Given the description of an element on the screen output the (x, y) to click on. 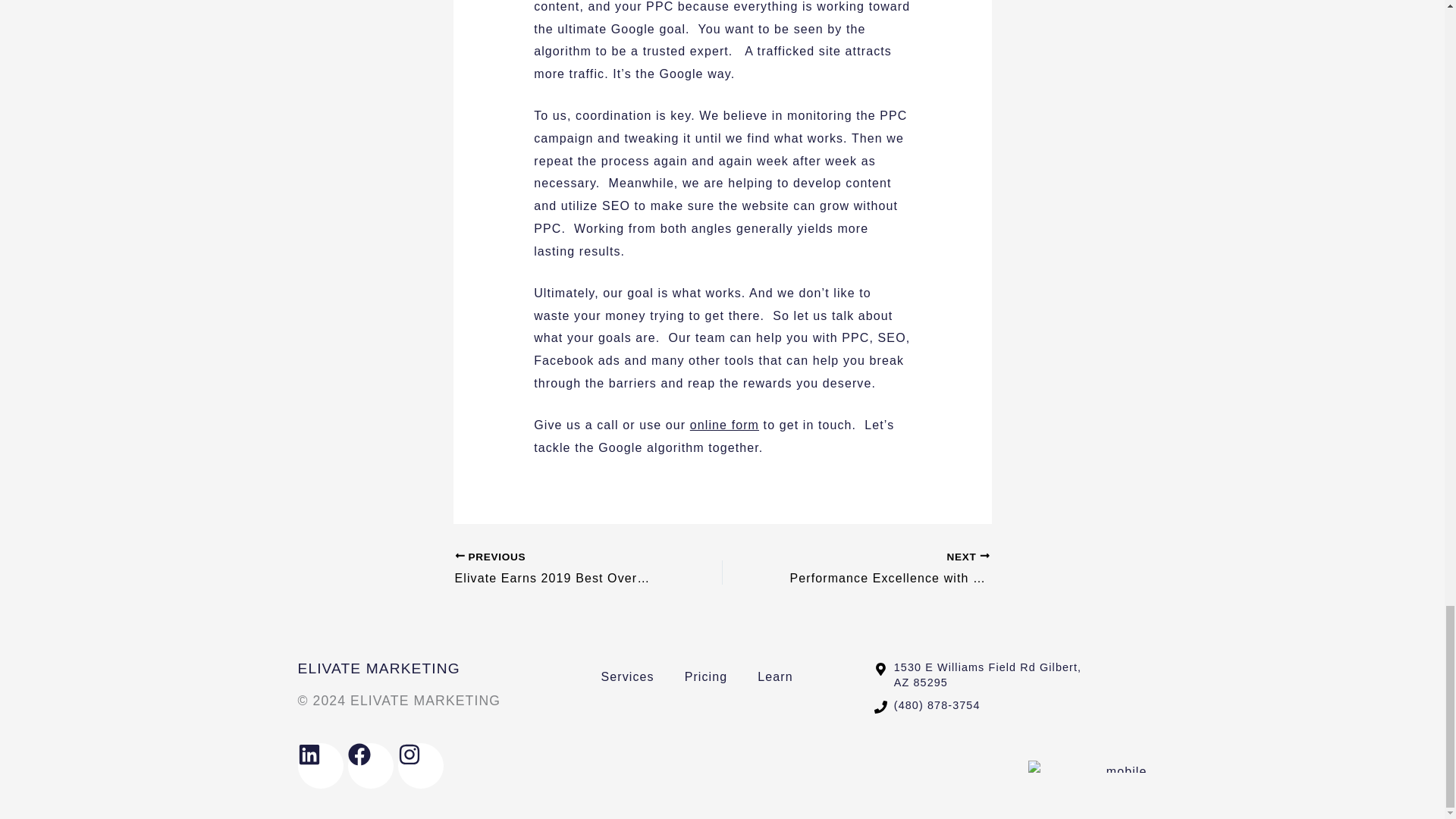
Learn (775, 677)
Services (626, 677)
Performance Excellence with LiteSpeed Server (882, 568)
Elivate Earns 2019 Best Overall Marketing Partner Award (561, 568)
Pricing (705, 677)
online form (882, 568)
